Given the description of an element on the screen output the (x, y) to click on. 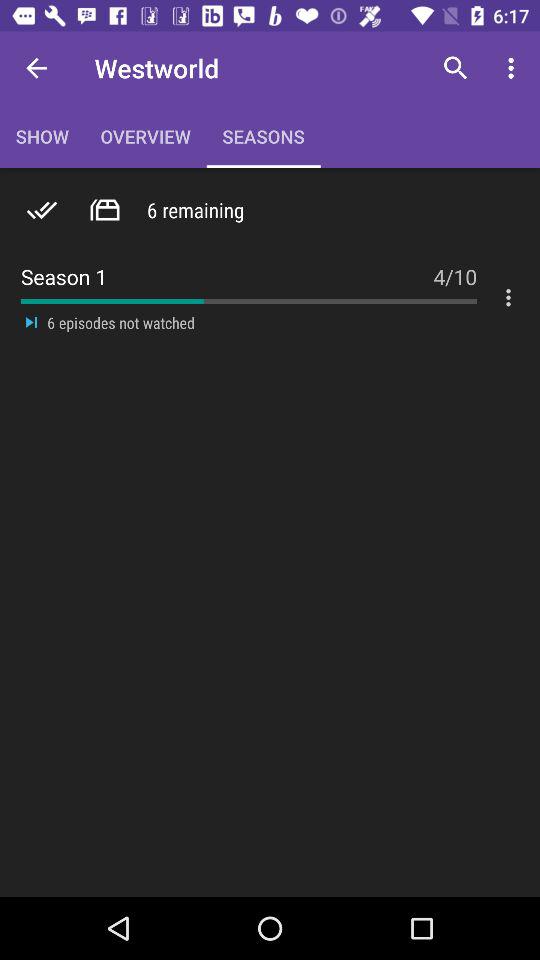
press the icon below the show item (41, 209)
